Given the description of an element on the screen output the (x, y) to click on. 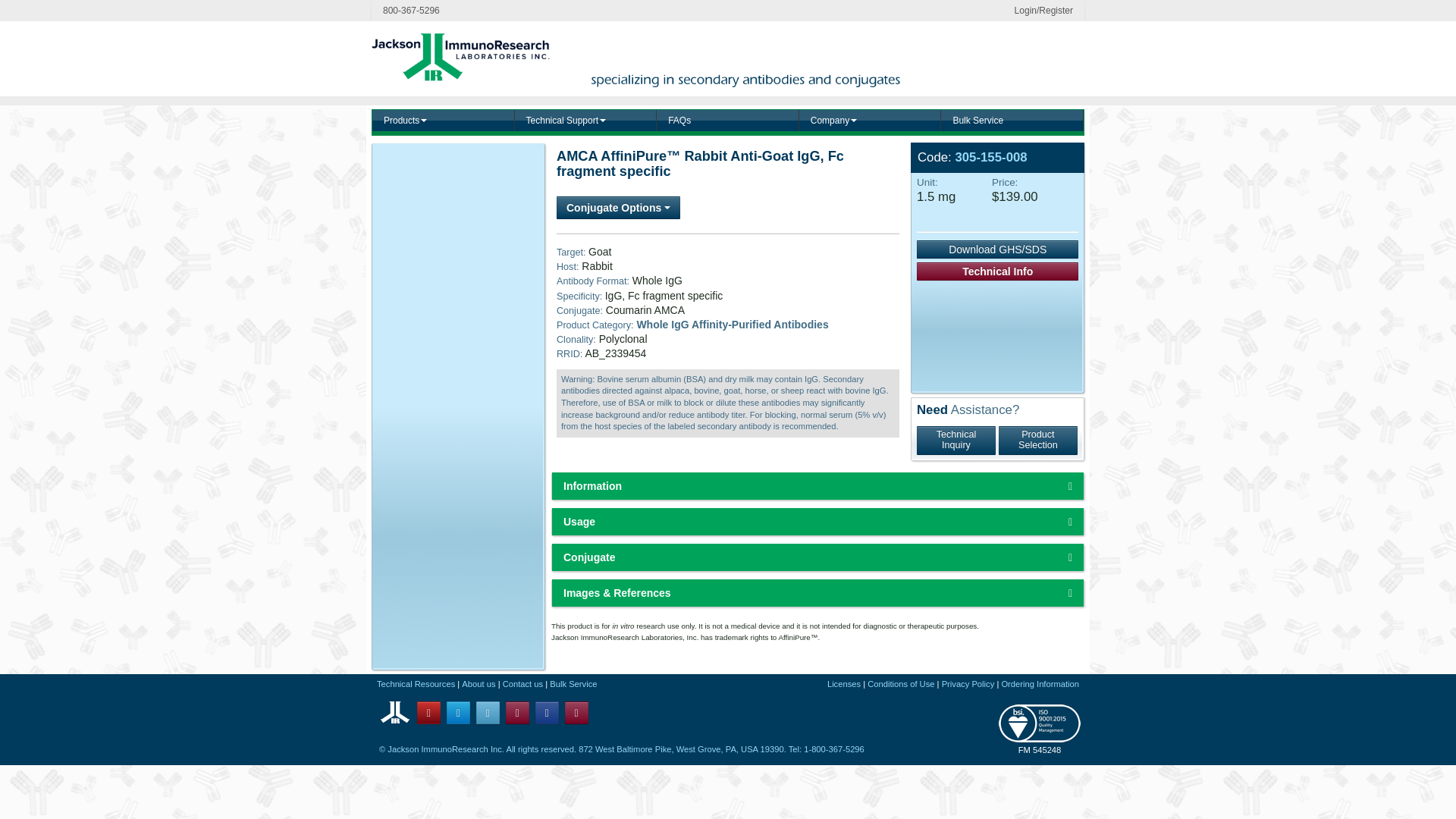
Technical Support (586, 120)
800-367-5296 (411, 10)
Products (443, 120)
